Given the description of an element on the screen output the (x, y) to click on. 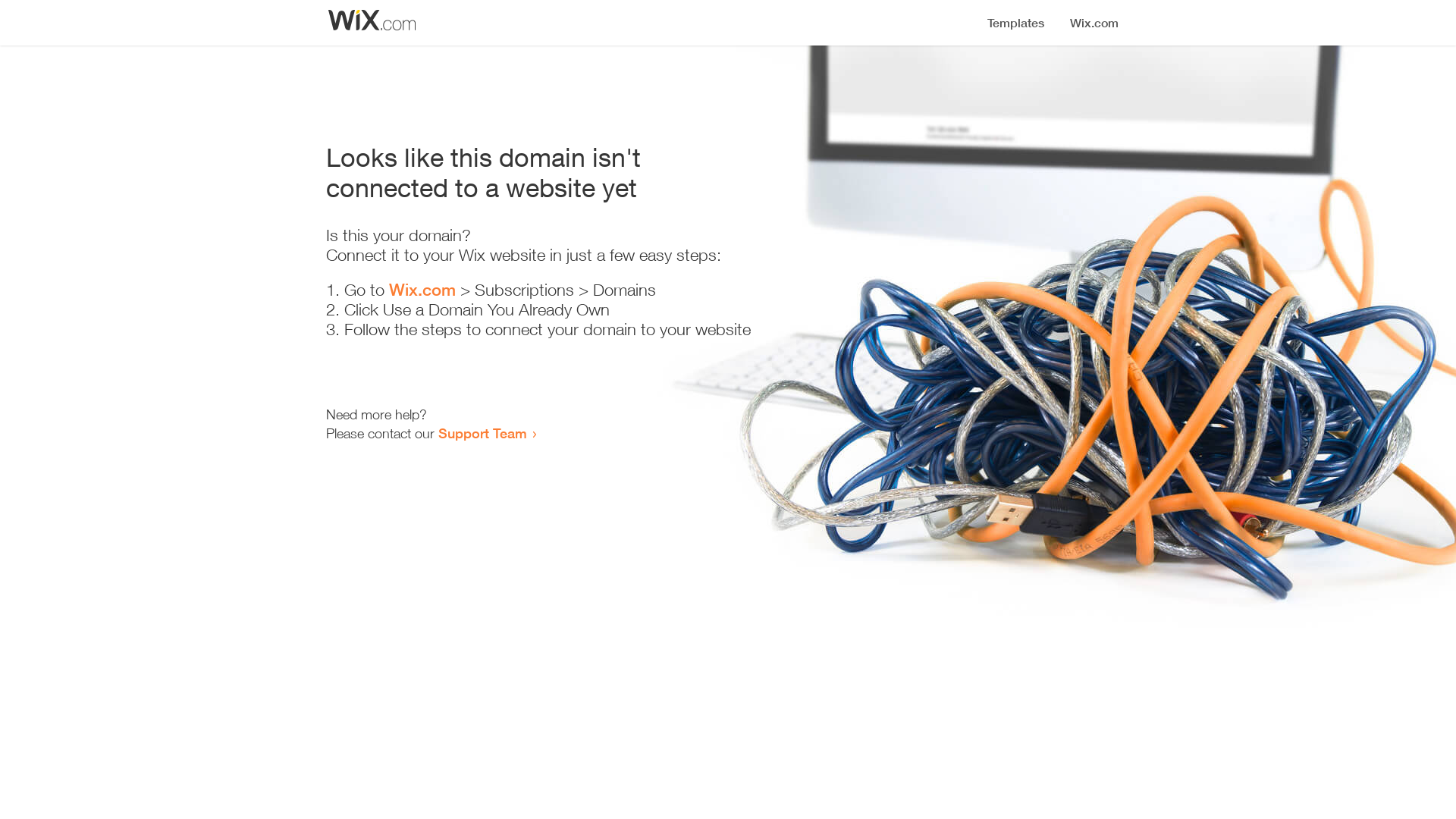
Wix.com Element type: text (422, 289)
Support Team Element type: text (482, 432)
